Given the description of an element on the screen output the (x, y) to click on. 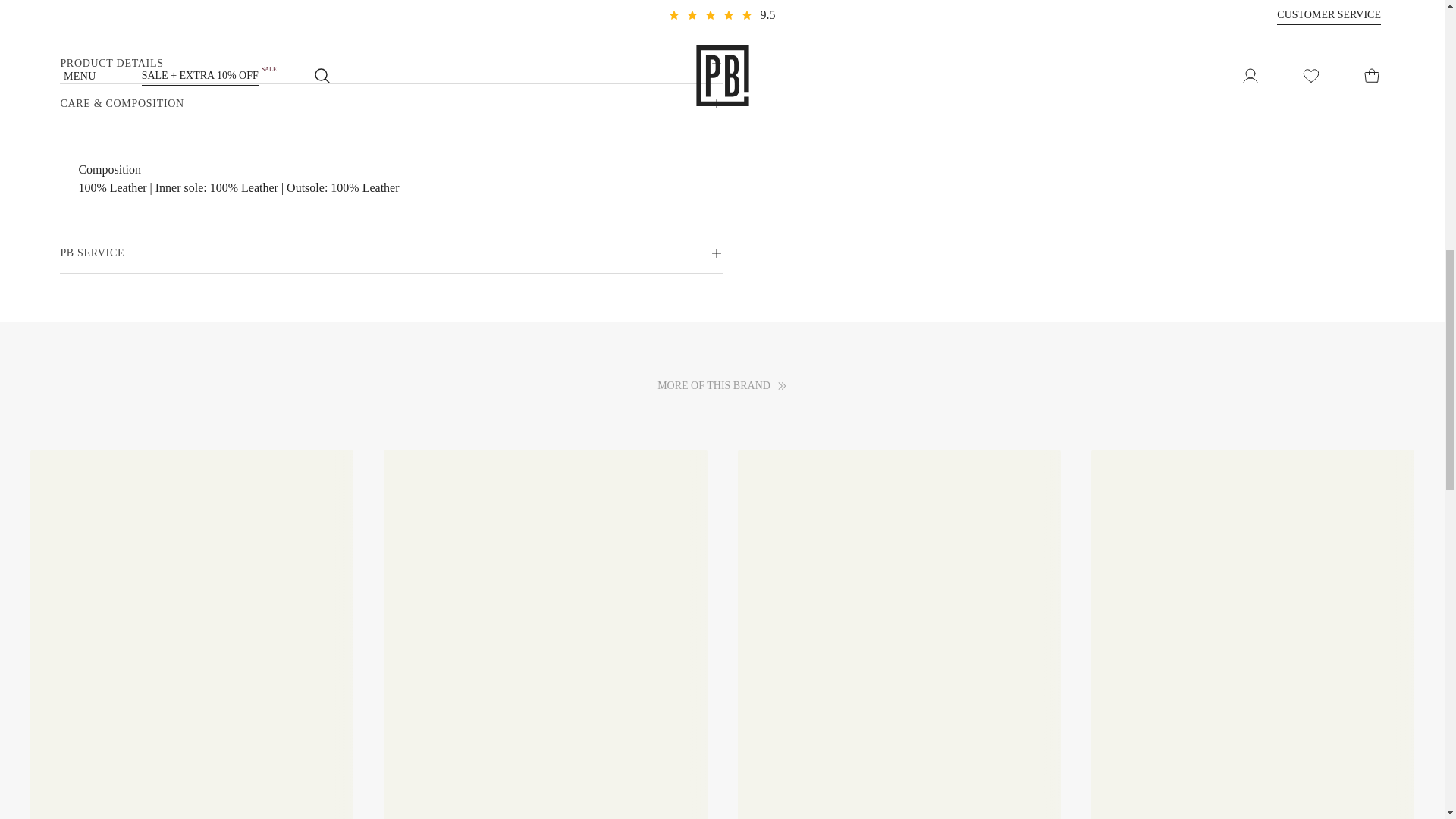
PRODUCT DETAILS (390, 64)
MORE OF THIS BRAND (722, 385)
PB SERVICE (390, 253)
